Given the description of an element on the screen output the (x, y) to click on. 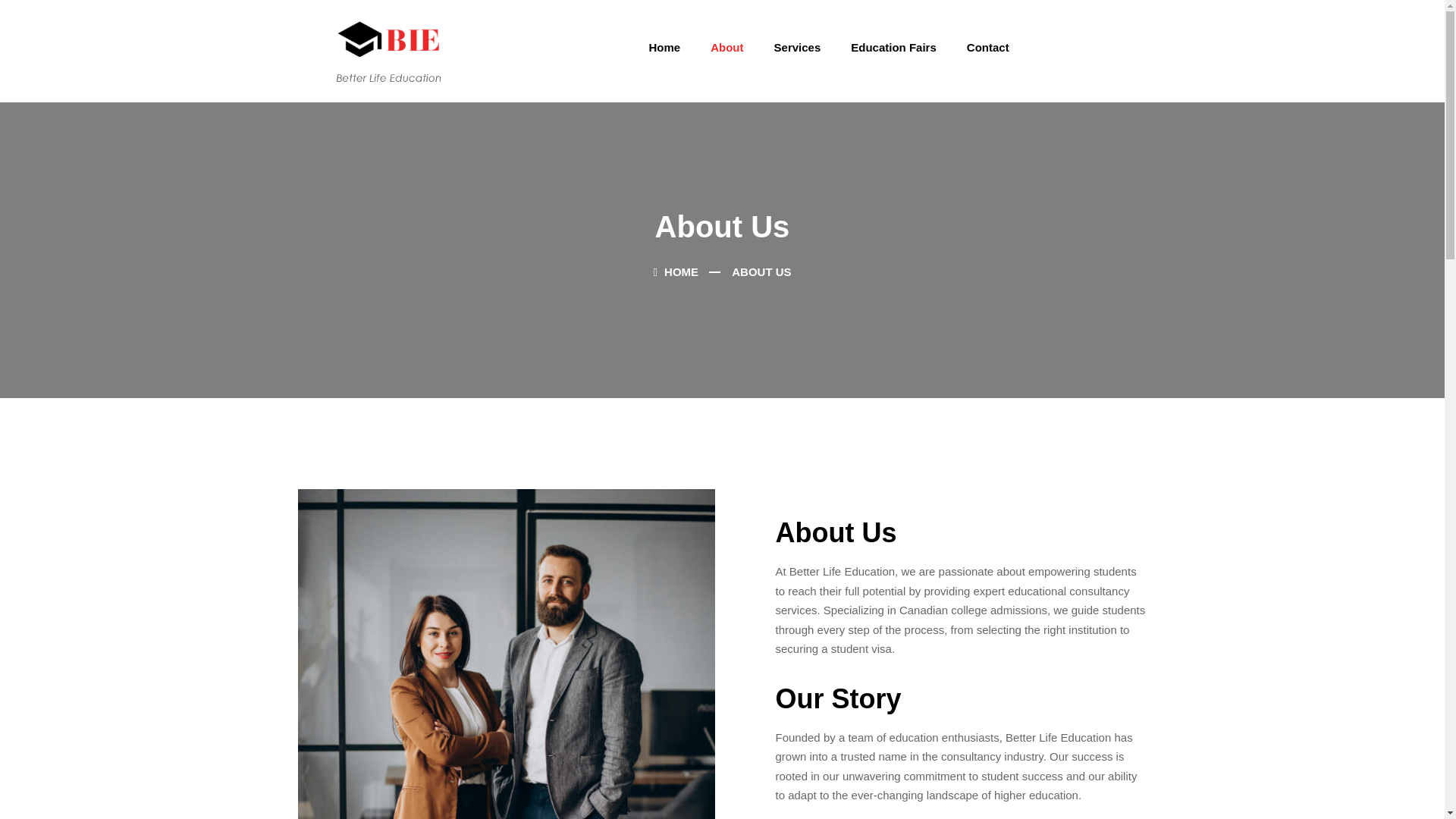
Education Fairs (893, 47)
Contact (988, 47)
HOME (675, 271)
About (726, 47)
Services (796, 47)
Home (664, 47)
